Given the description of an element on the screen output the (x, y) to click on. 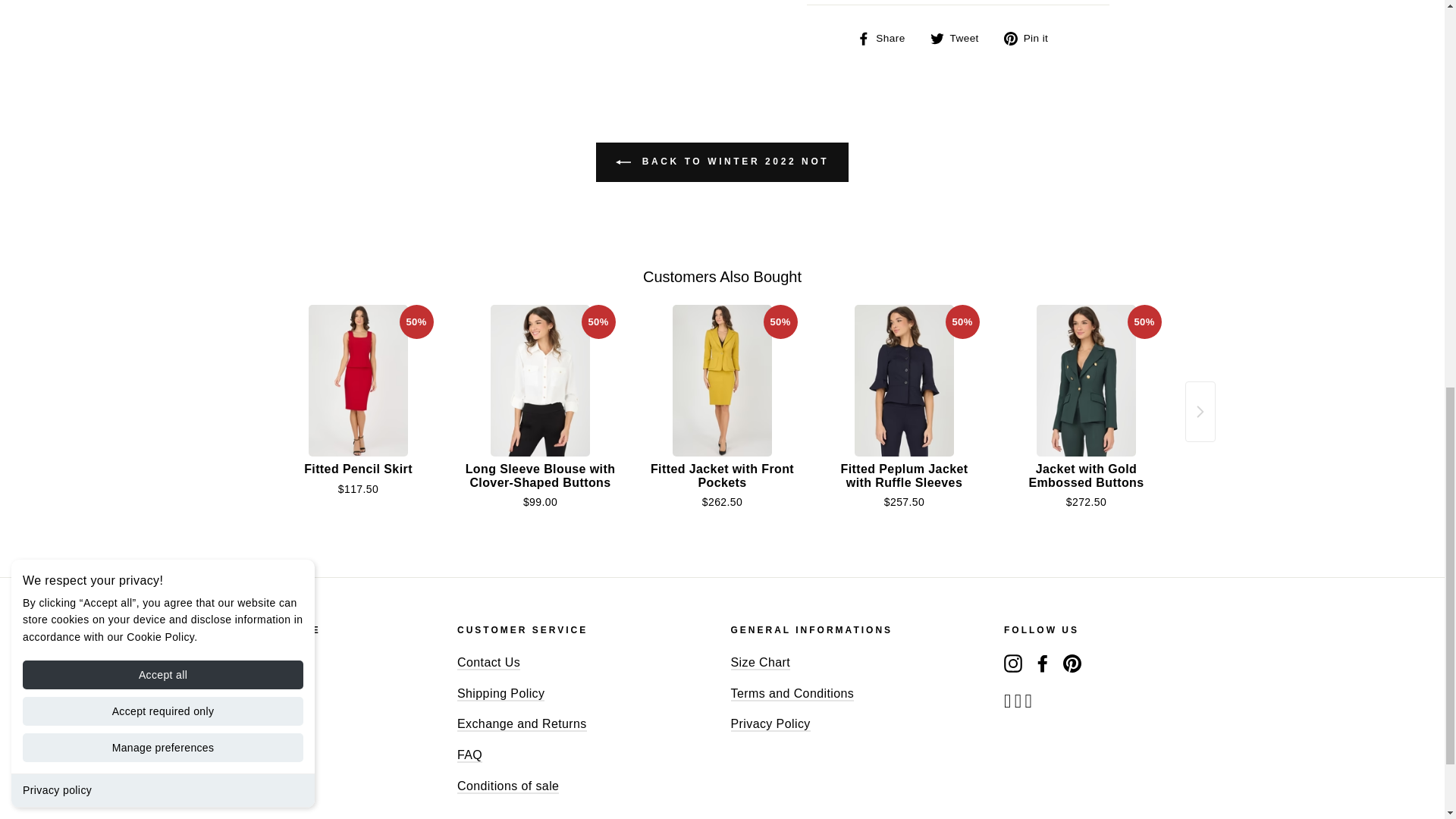
Fitted Jacket with Front Pockets (722, 380)
Fitted Pencil Skirt (358, 380)
Jacket with Gold Embossed Buttons (1086, 380)
Tweet on Twitter (960, 37)
Long Sleeve Blouse with Clover-Shaped Buttons (540, 380)
Share on Facebook (887, 37)
Fitted Peplum Jacket with Ruffle Sleeves (904, 380)
Pin on Pinterest (1031, 37)
